Given the description of an element on the screen output the (x, y) to click on. 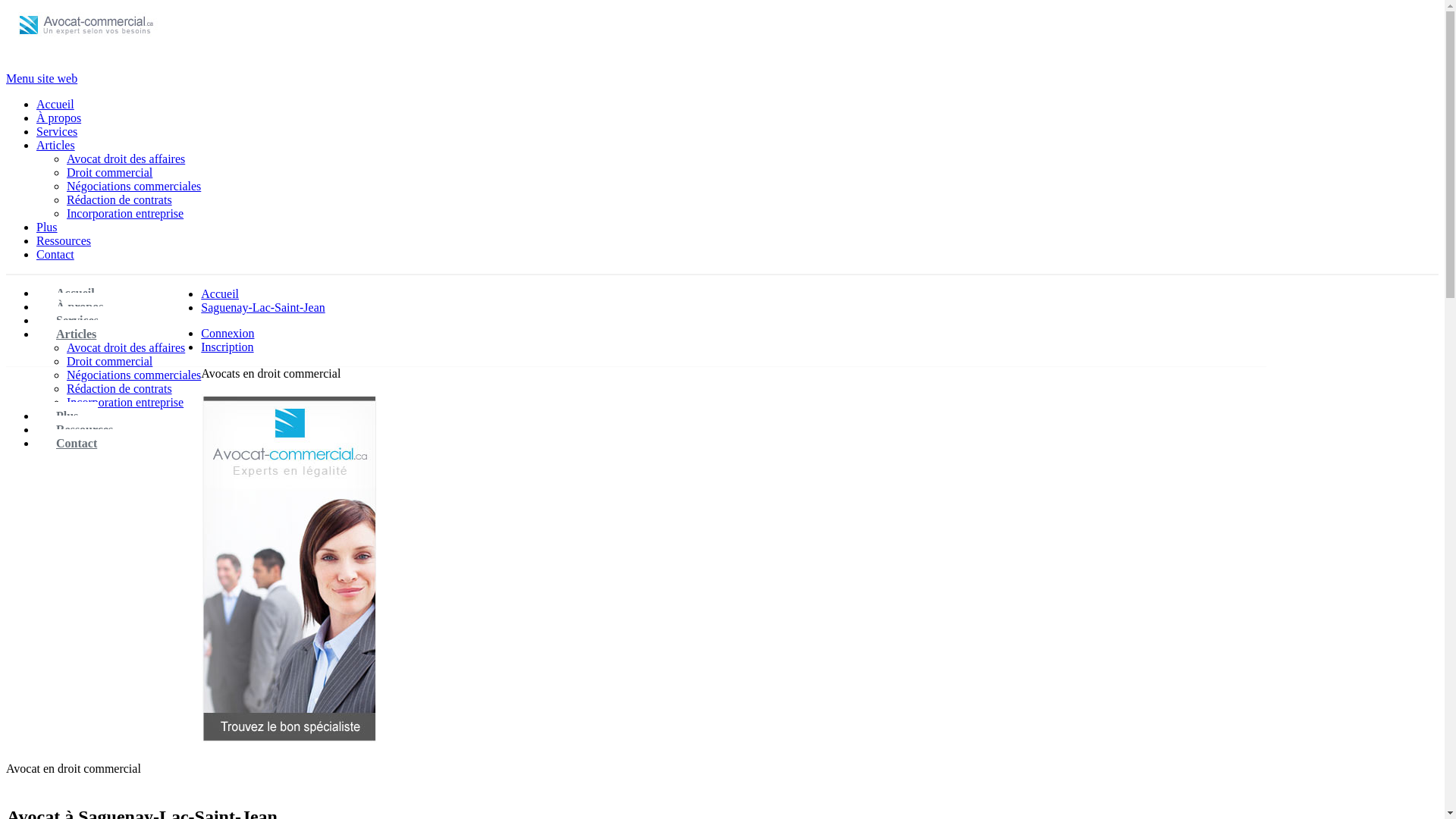
Avocat commercial Element type: hover (88, 41)
Plus Element type: text (46, 226)
Services Element type: text (56, 131)
Incorporation entreprise Element type: text (124, 213)
Avocat droit des affaires Element type: text (125, 347)
Articles Element type: text (76, 334)
Droit commercial Element type: text (109, 172)
Ressources Element type: text (63, 240)
Inscription Element type: text (226, 346)
Accueil Element type: text (55, 103)
Accueil Element type: text (219, 293)
Menu site web Element type: text (41, 78)
Incorporation entreprise Element type: text (124, 401)
Articles Element type: text (55, 144)
Plus Element type: text (66, 415)
Saguenay-Lac-Saint-Jean Element type: text (262, 307)
Ressources Element type: text (84, 429)
Services Element type: text (77, 320)
Accueil Element type: text (75, 293)
Connexion Element type: text (227, 332)
Contact Element type: text (55, 253)
Droit commercial Element type: text (109, 360)
Avocat droit des affaires Element type: text (125, 158)
Contact Element type: text (76, 443)
